Given the description of an element on the screen output the (x, y) to click on. 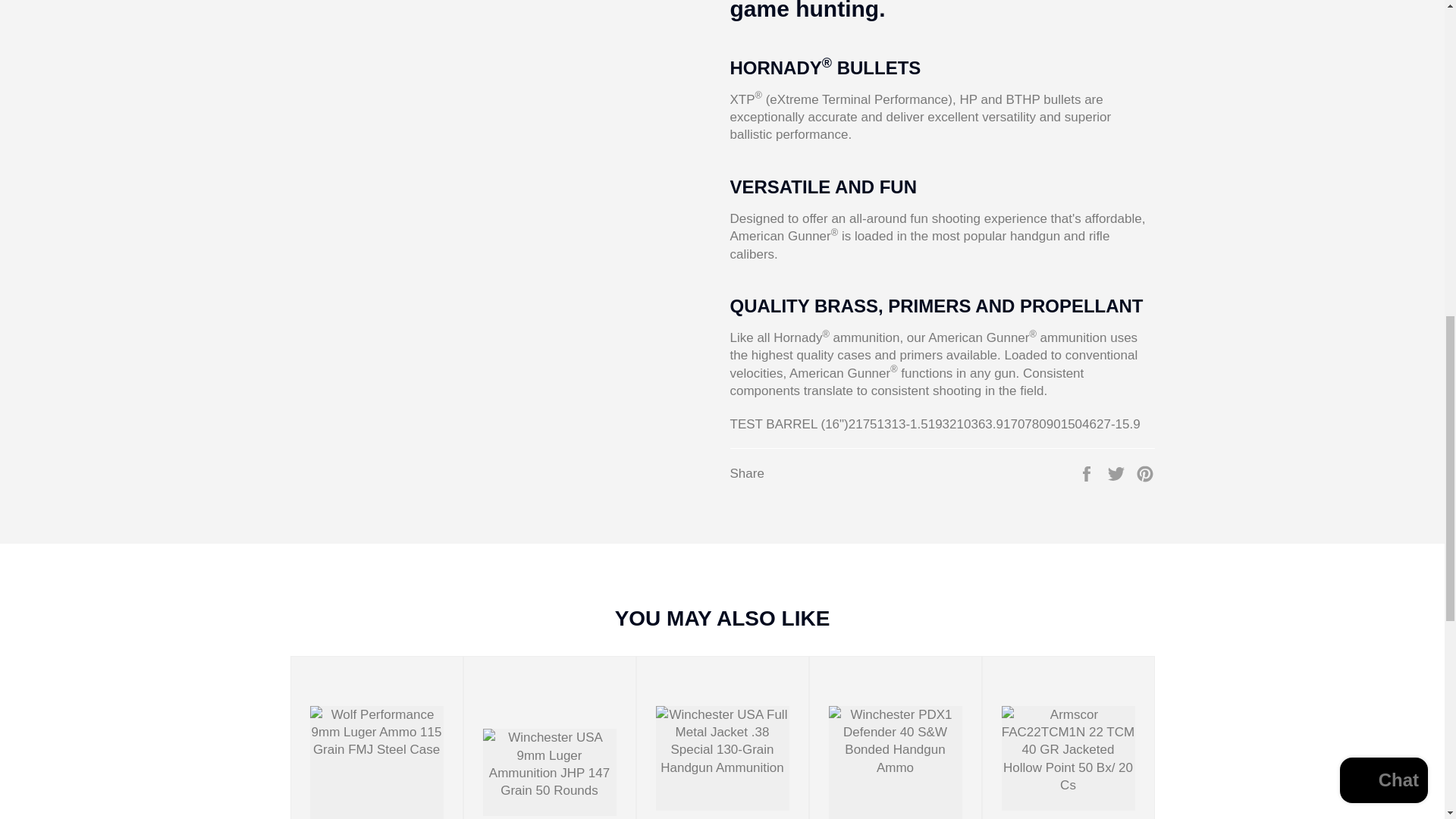
Pin on Pinterest (1144, 472)
Tweet on Twitter (1117, 472)
Share on Facebook (1088, 472)
